Given the description of an element on the screen output the (x, y) to click on. 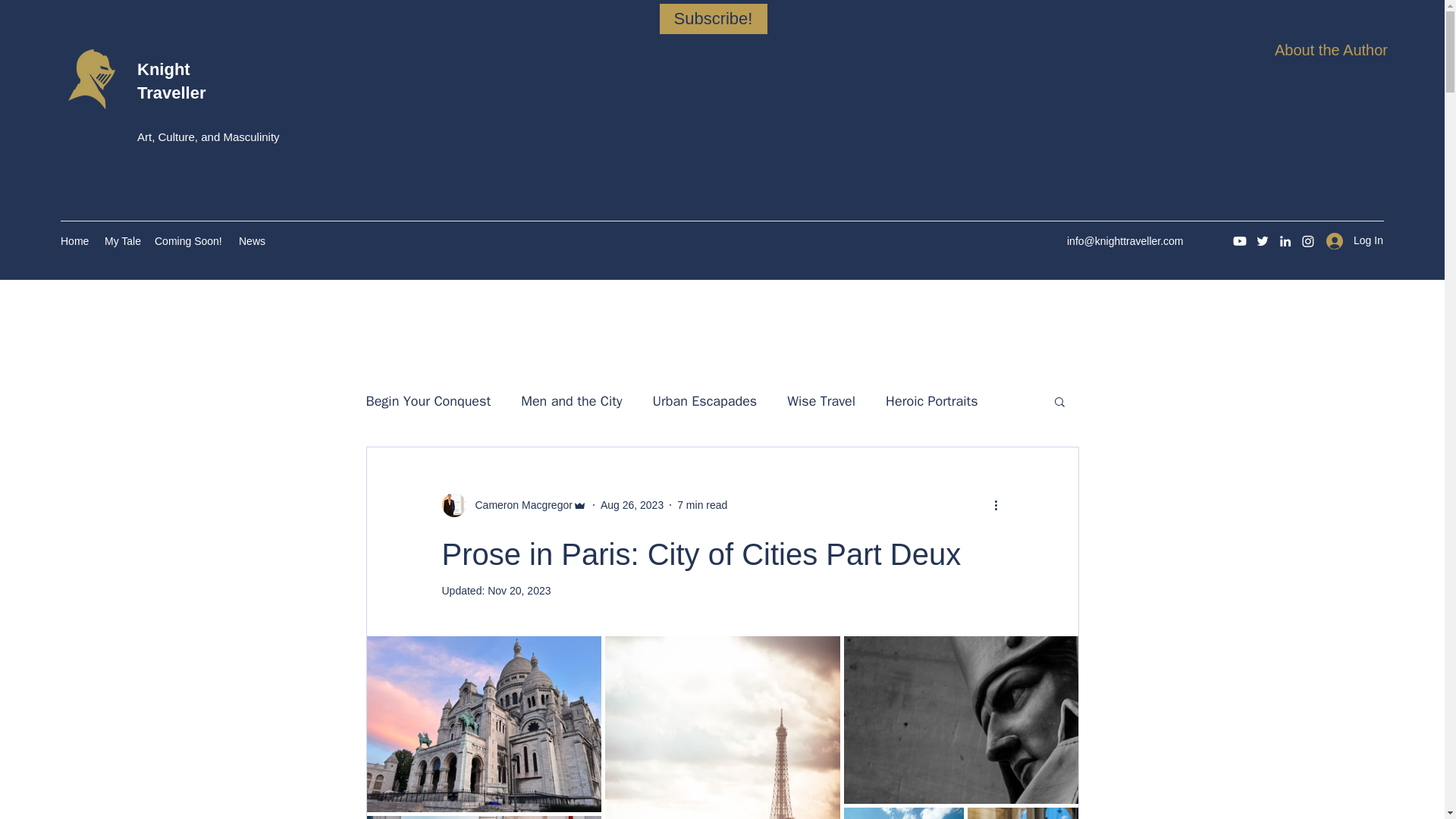
Wise Travel (821, 401)
Cameron Macgregor (513, 504)
Subscribe! (713, 19)
7 min read (701, 504)
Nov 20, 2023 (518, 590)
Cameron Macgregor (518, 505)
About the Author (1331, 50)
Aug 26, 2023 (631, 504)
Home (74, 241)
Begin Your Conquest (427, 401)
Coming Soon! (189, 241)
News (252, 241)
Urban Escapades (704, 401)
Heroic Portraits (930, 401)
Men and the City (571, 401)
